Given the description of an element on the screen output the (x, y) to click on. 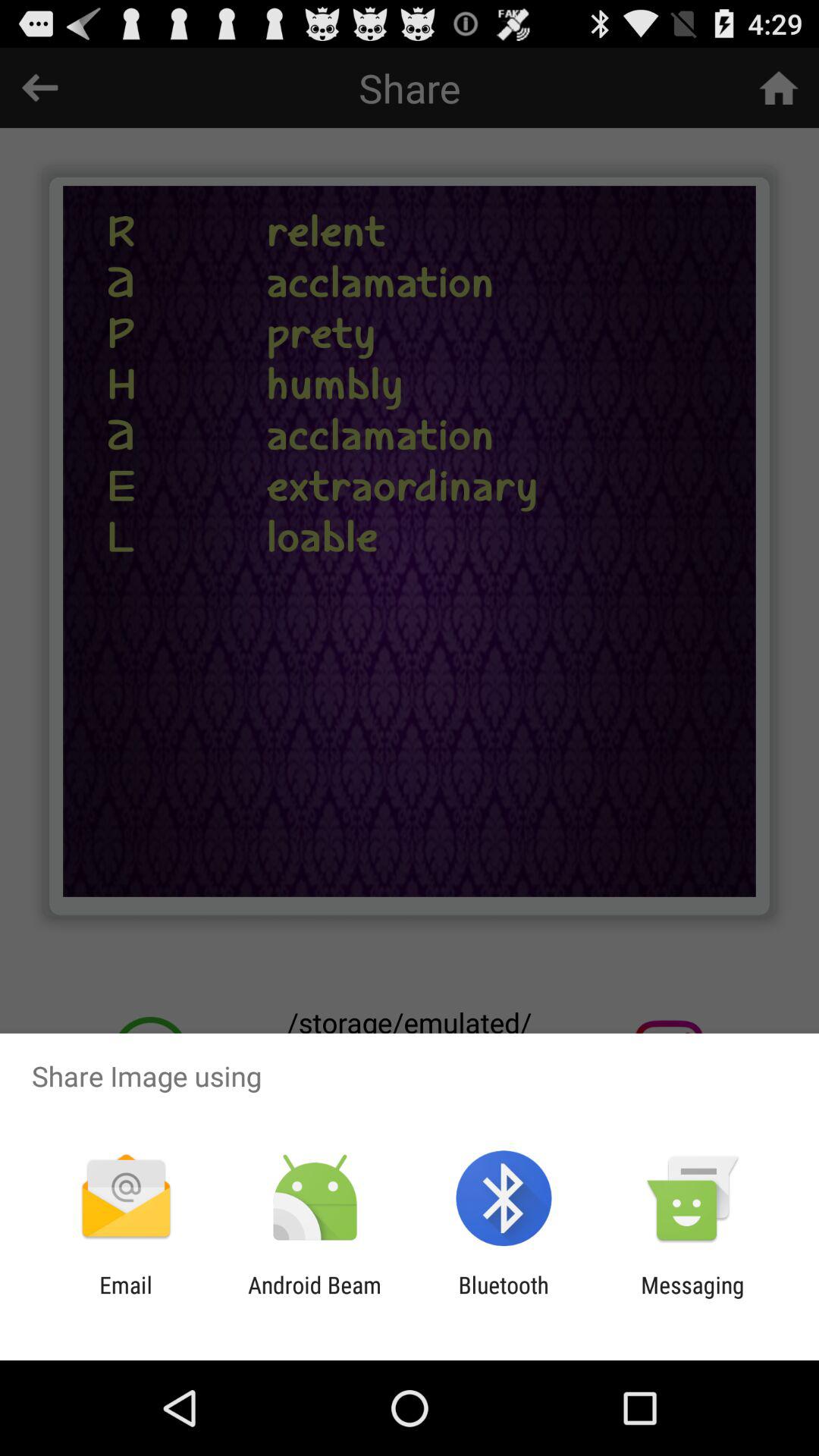
tap item next to email item (314, 1298)
